Given the description of an element on the screen output the (x, y) to click on. 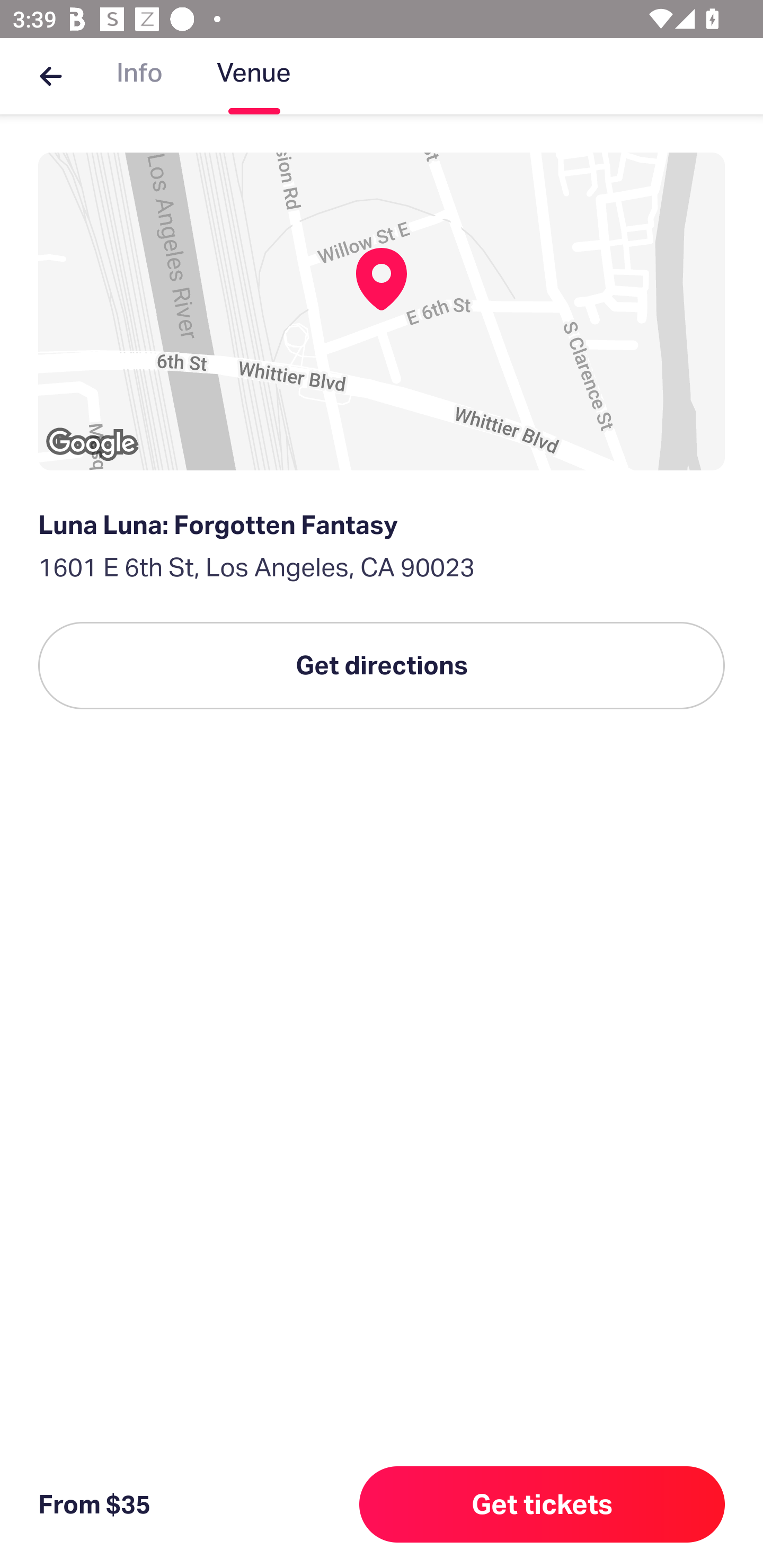
Info (139, 75)
Google Map Luna Luna: Forgotten Fantasy.  (381, 311)
Get directions (381, 665)
Get tickets (541, 1504)
